Given the description of an element on the screen output the (x, y) to click on. 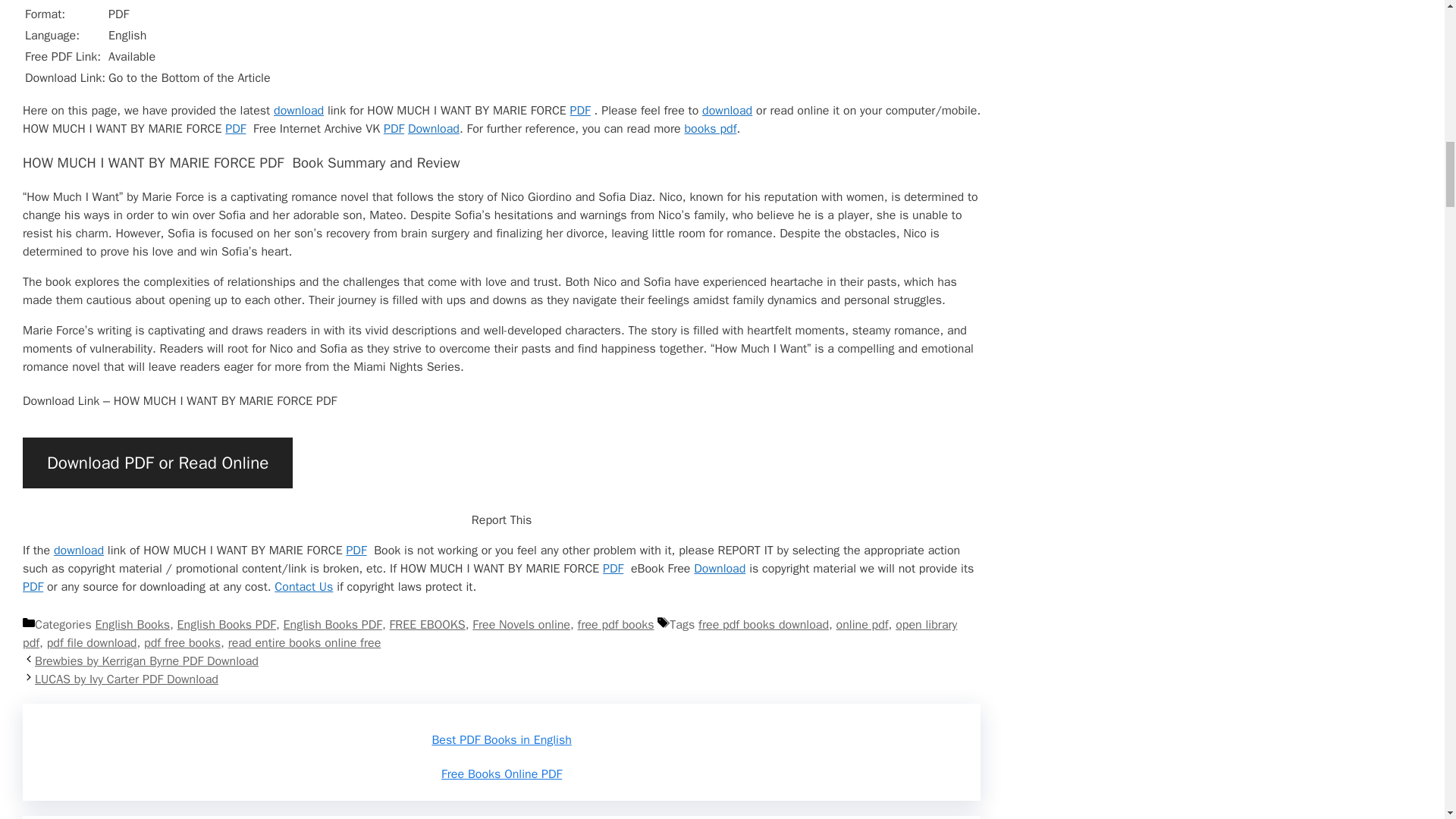
Link (298, 110)
download (726, 110)
download (298, 110)
PDF (580, 110)
